Given the description of an element on the screen output the (x, y) to click on. 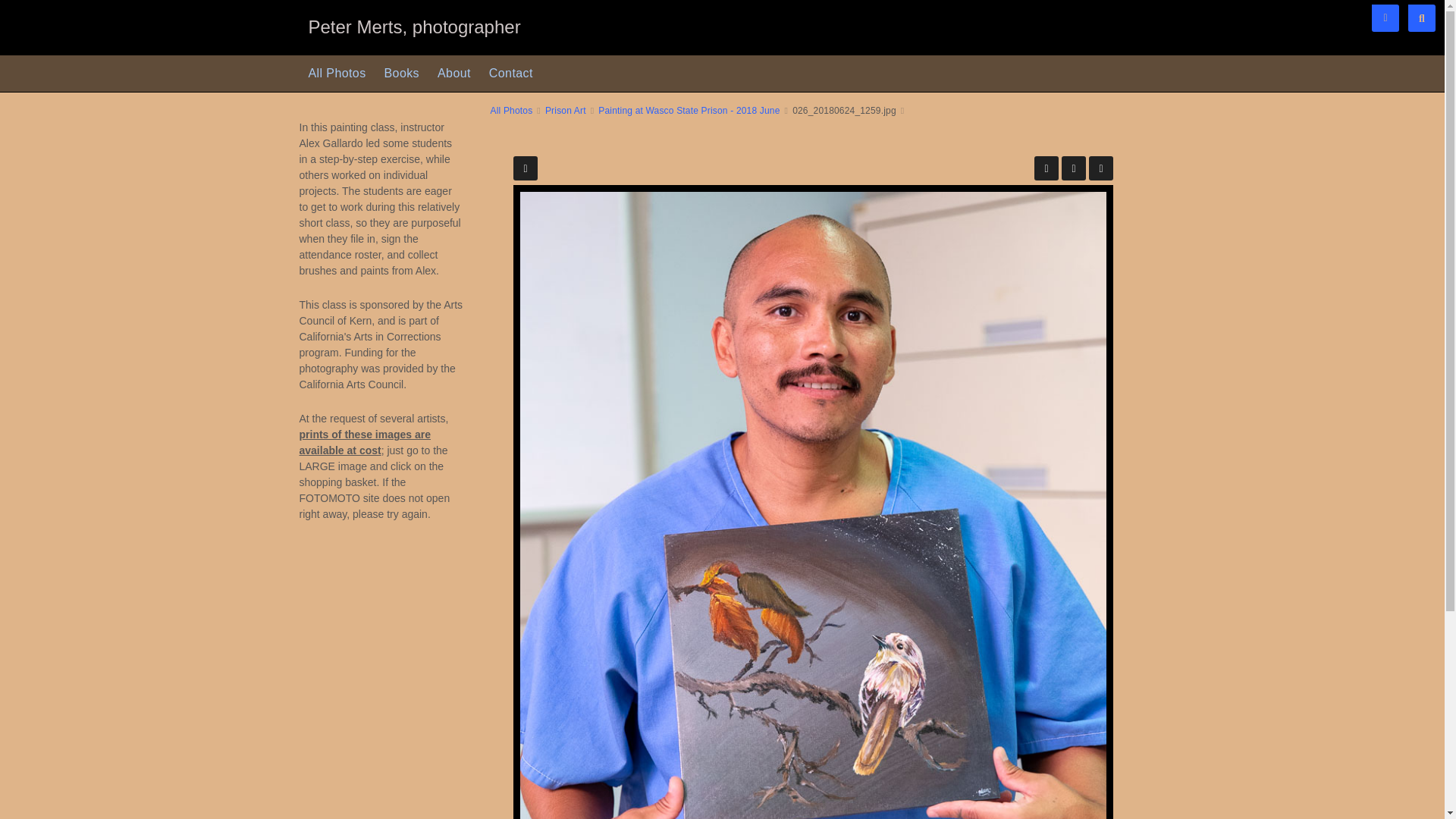
Books (401, 72)
All Photos (336, 72)
Prison Art (565, 110)
Contact (510, 72)
Peter Merts, photographer (413, 29)
All Photos (510, 110)
About (454, 72)
Painting at Wasco State Prison - 2018 June (688, 110)
